Given the description of an element on the screen output the (x, y) to click on. 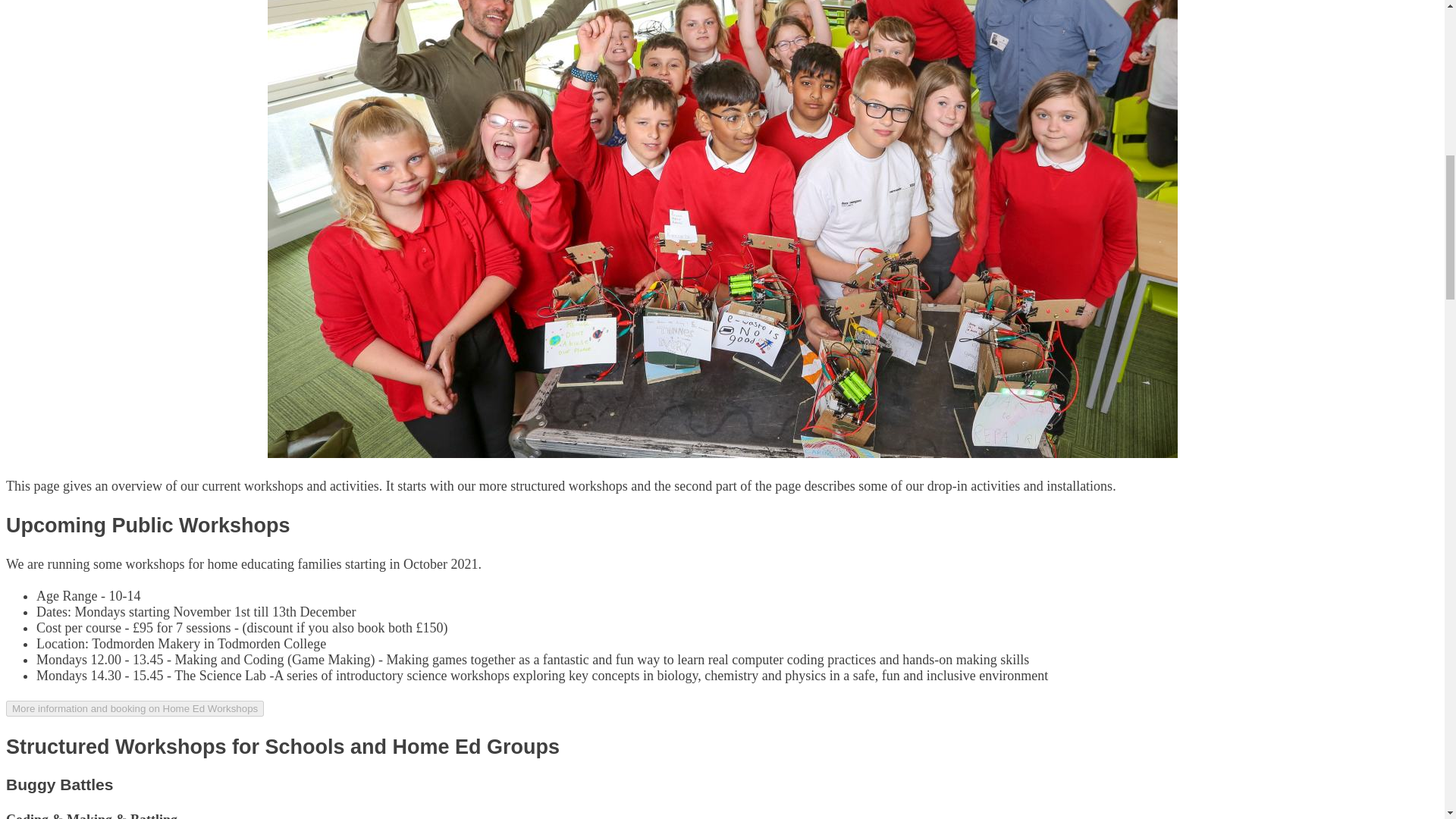
More information and booking on Home Ed Workshops (134, 708)
